Given the description of an element on the screen output the (x, y) to click on. 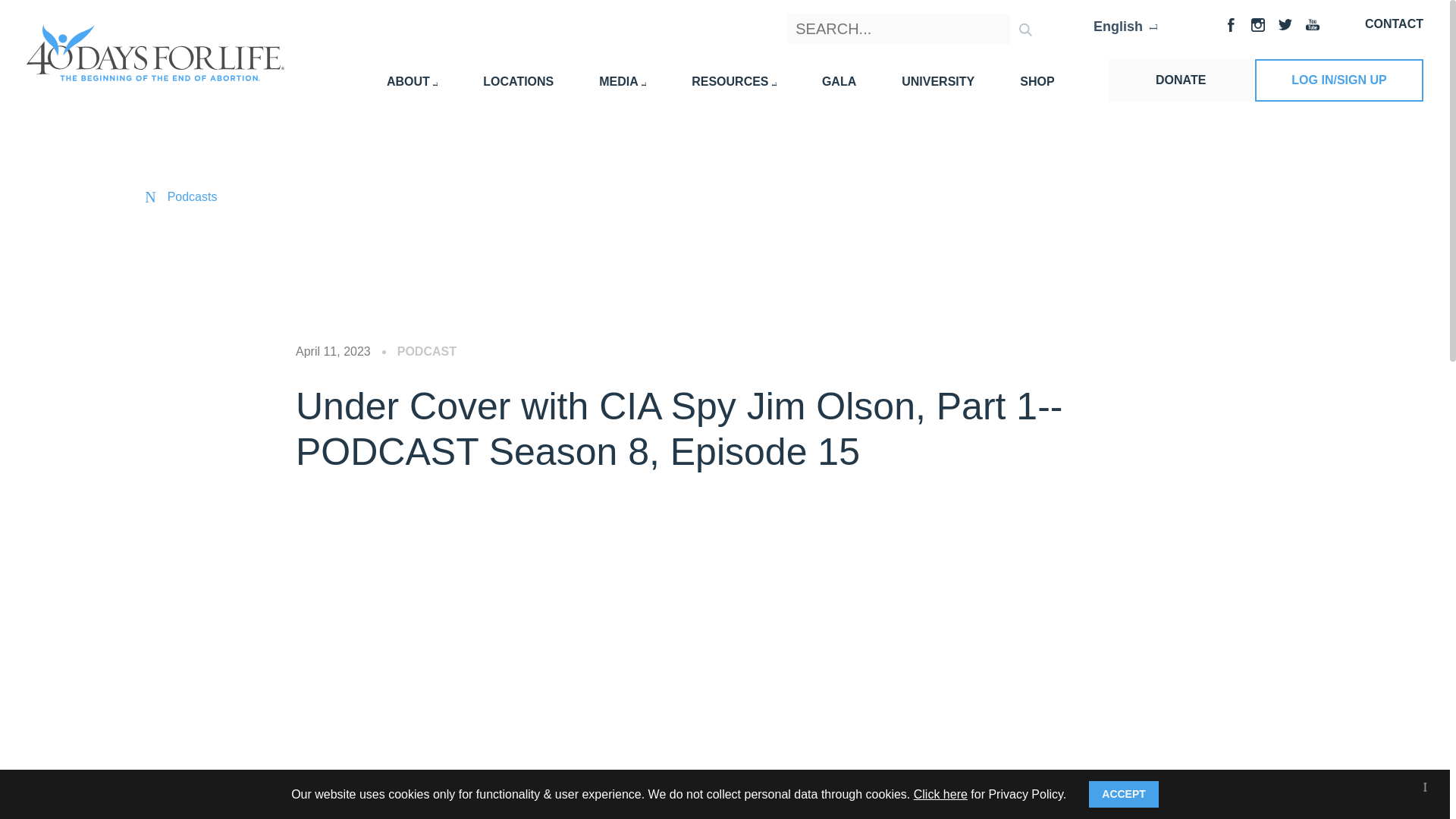
YouTube video player (507, 646)
LOCATIONS (518, 81)
CONTACT (1394, 23)
ACCEPT (1123, 794)
Click here (941, 793)
GALA (839, 81)
UNIVERSITY (937, 81)
SHOP (1037, 81)
DONATE (1180, 79)
